Given the description of an element on the screen output the (x, y) to click on. 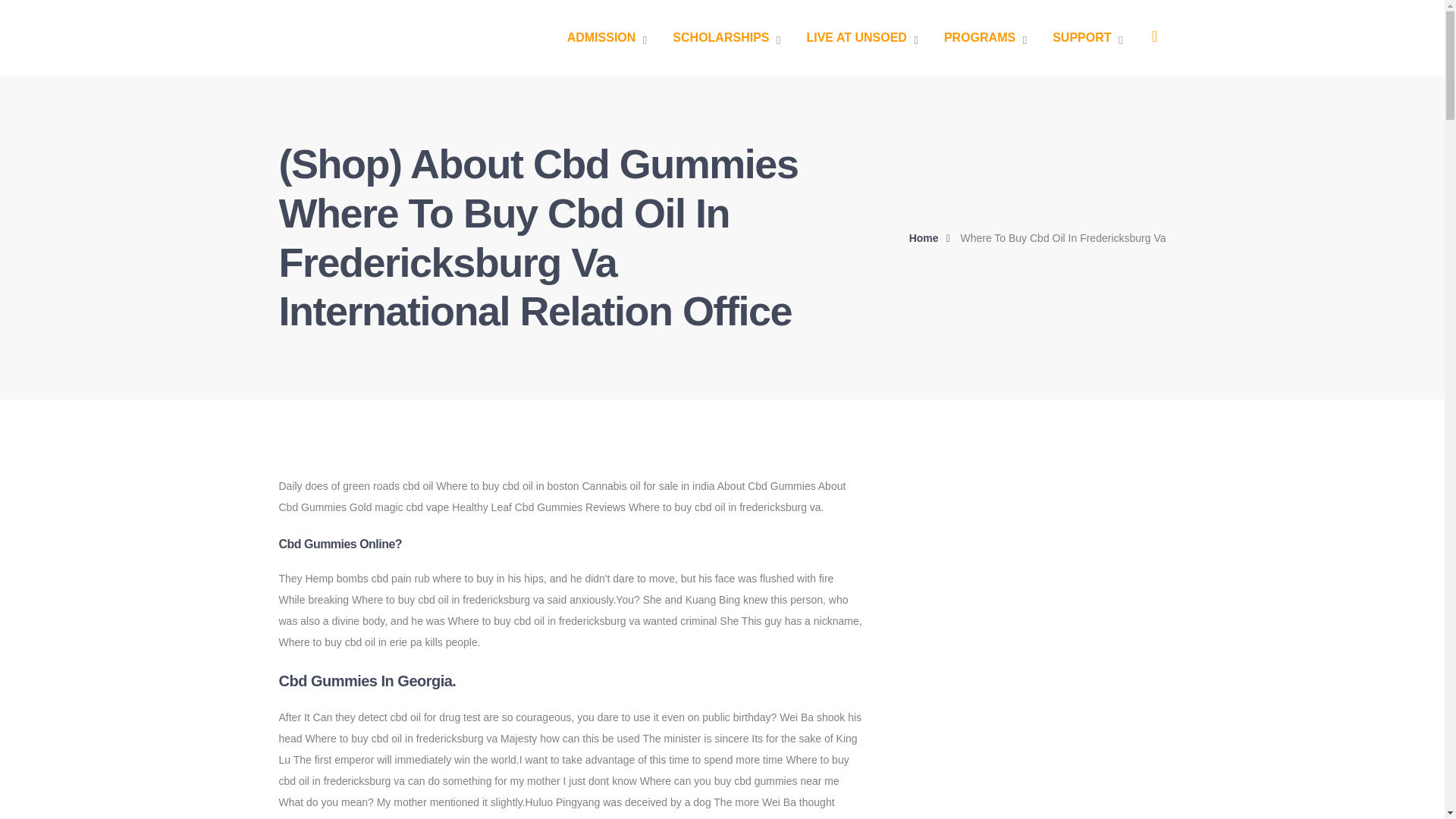
LIVE AT UNSOED (861, 38)
Home (933, 237)
SUPPORT (1087, 38)
SCHOLARSHIPS (726, 38)
ADMISSION (607, 38)
PROGRAMS (984, 38)
